Given the description of an element on the screen output the (x, y) to click on. 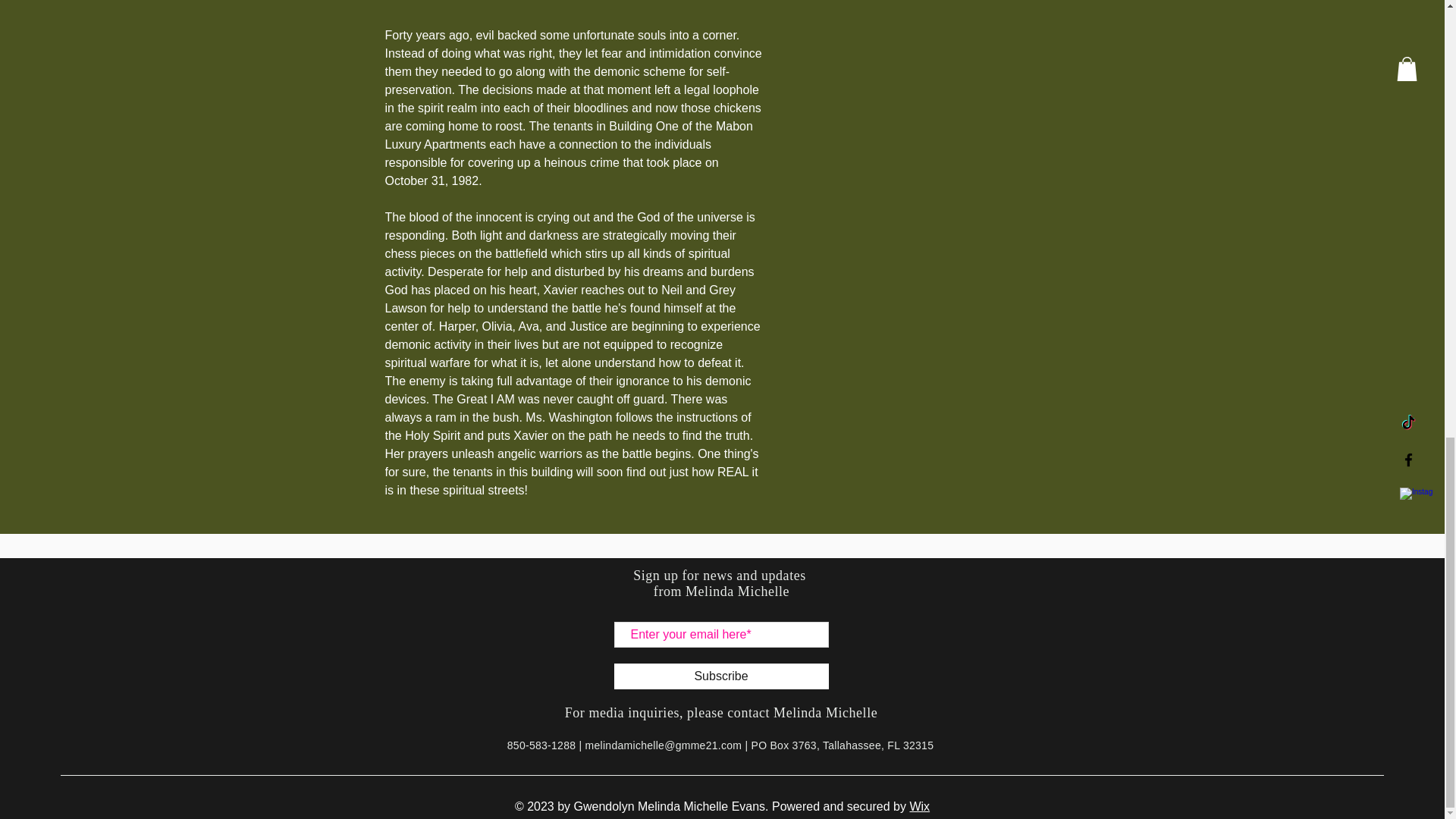
Wix (919, 806)
Subscribe (721, 676)
